Given the description of an element on the screen output the (x, y) to click on. 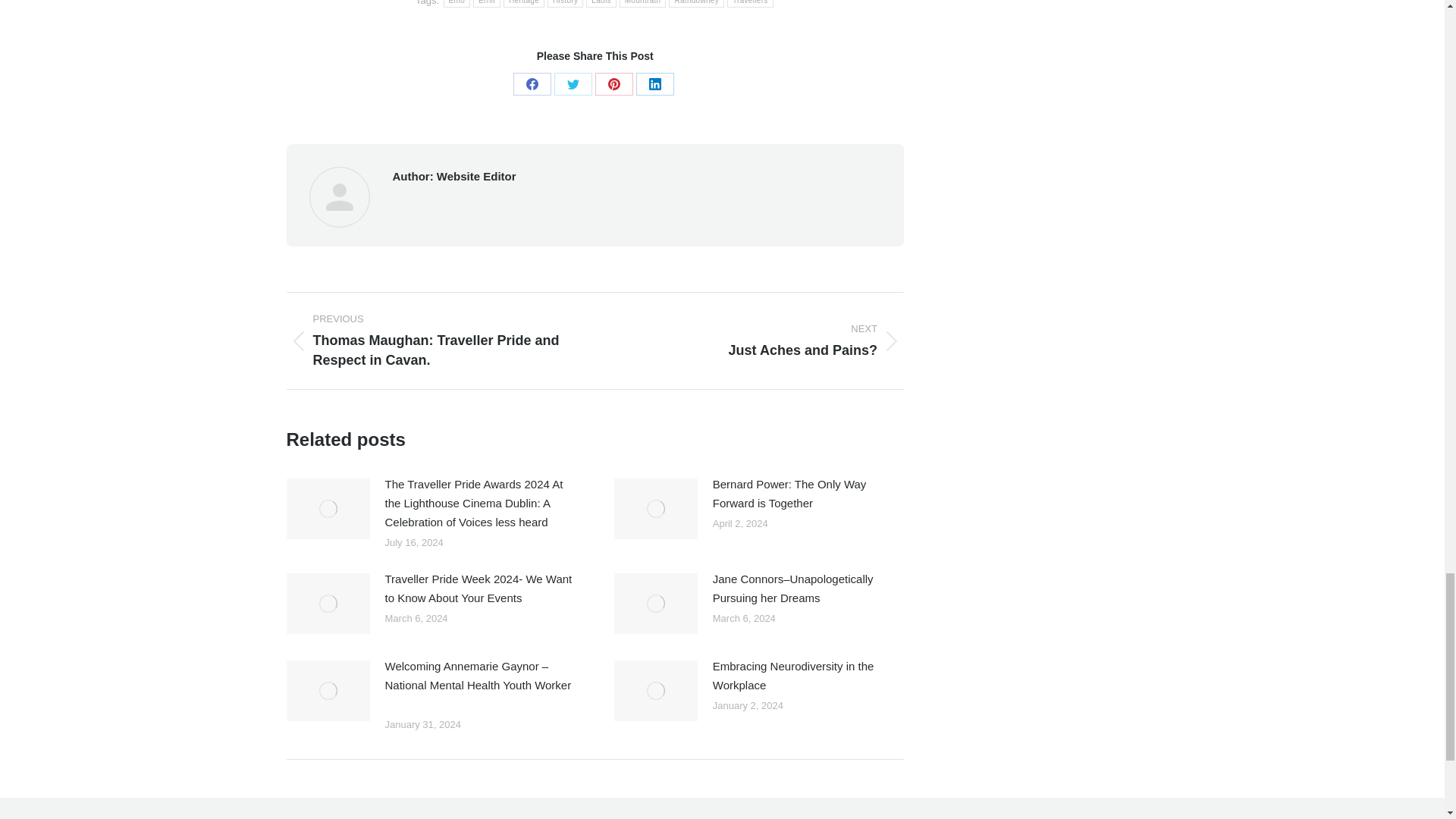
LinkedIn (655, 83)
Twitter (573, 83)
Facebook (532, 83)
Pinterest (614, 83)
